Given the description of an element on the screen output the (x, y) to click on. 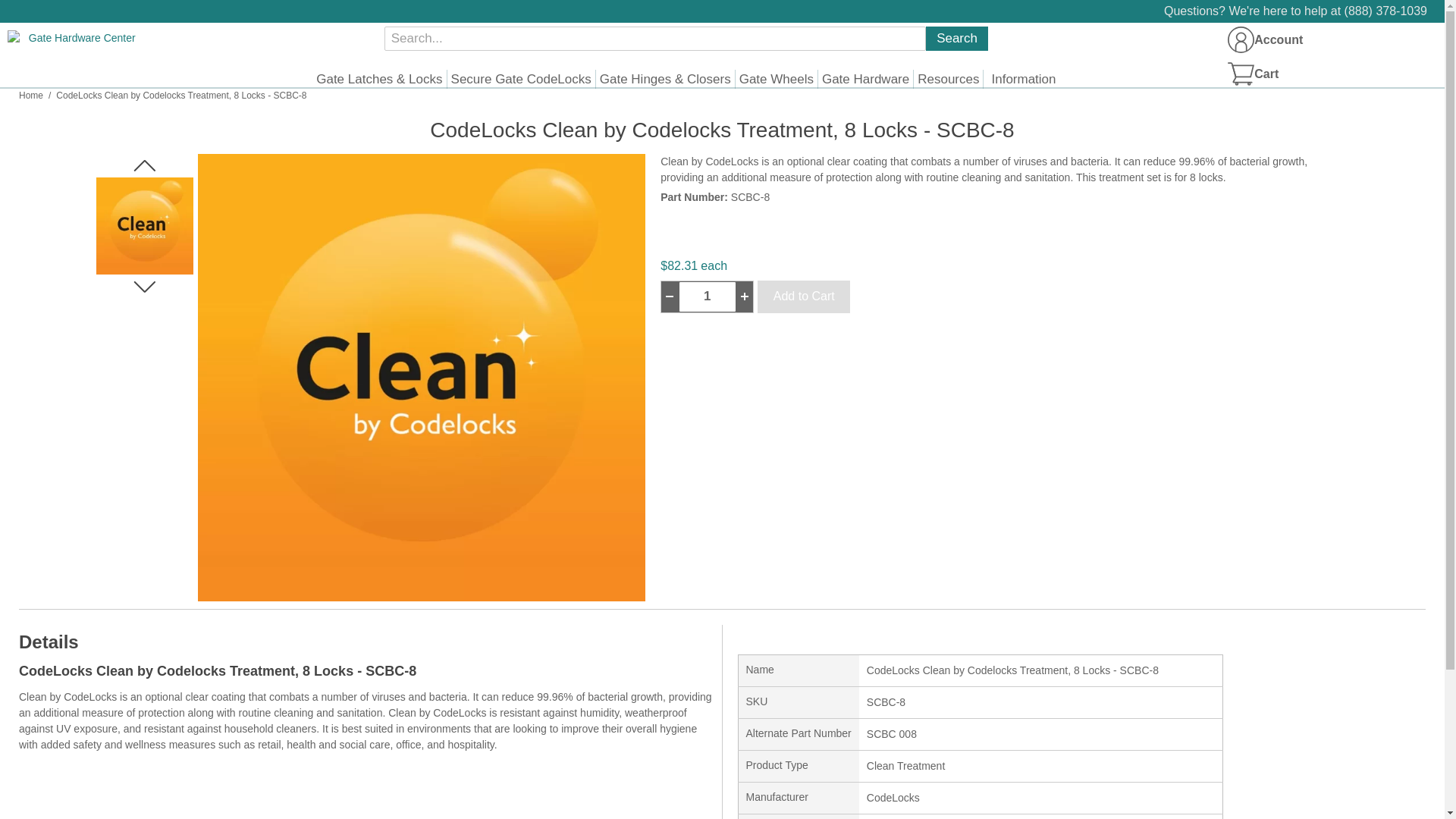
Go to Home Page (30, 95)
Gate Hardware (865, 79)
Qty (707, 296)
Add to Cart (803, 296)
Information (1021, 79)
Cart (1258, 73)
Account (1240, 39)
Secure Gate CodeLocks (521, 79)
Gate Wheels (776, 79)
1 (707, 296)
Add to Cart (803, 296)
Search (957, 38)
Resources (947, 79)
Home (30, 95)
